Given the description of an element on the screen output the (x, y) to click on. 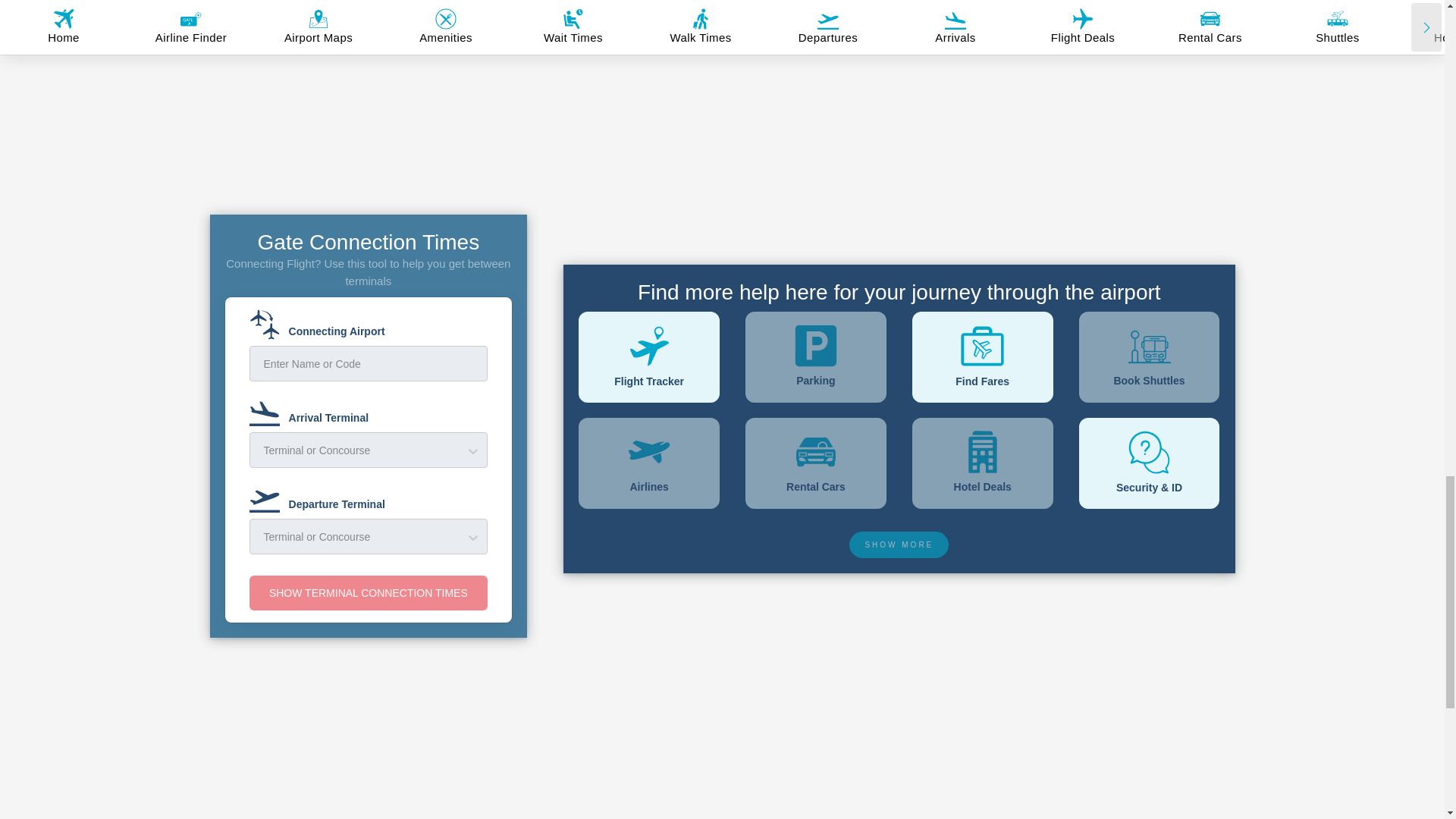
show more (898, 543)
